Given the description of an element on the screen output the (x, y) to click on. 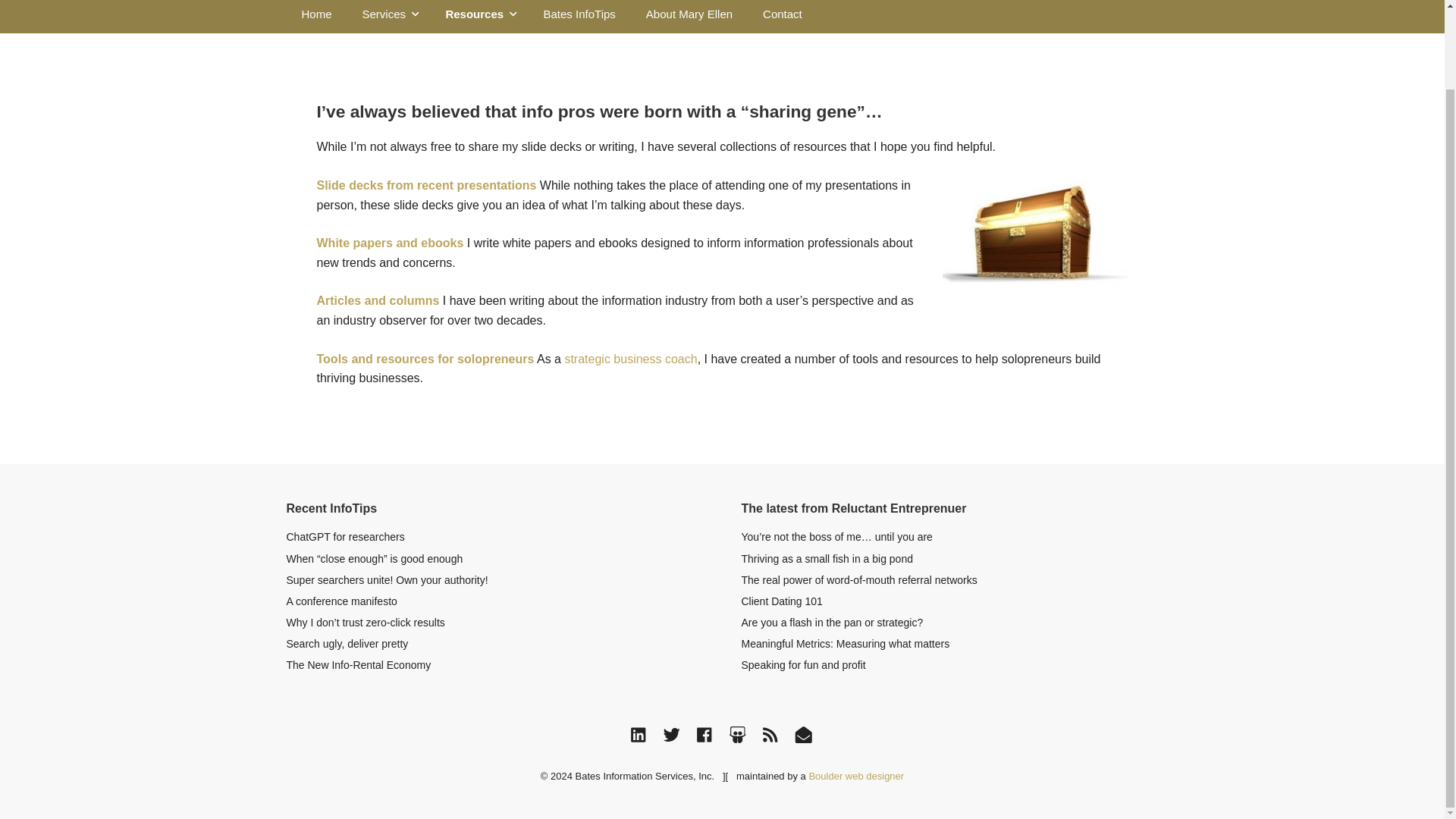
Super searchers unite! Own your authority! (386, 580)
Tools and resources for solopreneurs (425, 358)
About Mary Ellen (689, 16)
White papers and ebooks (390, 242)
Services (388, 16)
Resources (478, 16)
Bates InfoTips (579, 16)
Search ugly, deliver pretty (347, 644)
The New Info-Rental Economy (358, 664)
Articles and columns (378, 300)
Home (316, 16)
Contact (782, 16)
Slide decks from recent presentations (427, 185)
strategic business coach (630, 358)
A conference manifesto (341, 601)
